Given the description of an element on the screen output the (x, y) to click on. 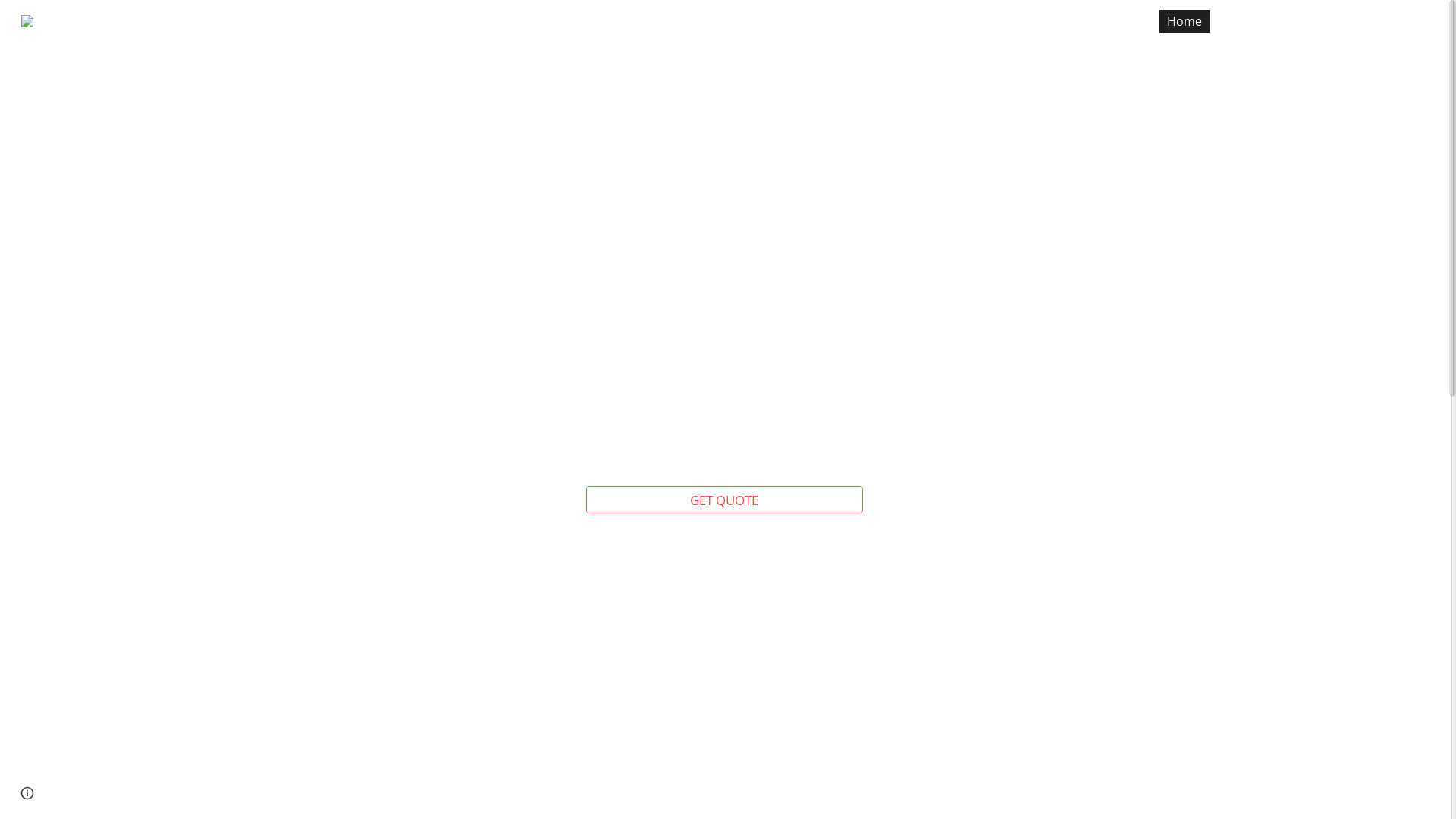
Home Element type: text (1184, 20)
285 AUTO GLASS Element type: text (84, 18)
GET QUOTE Element type: text (724, 498)
SOCIAL MEDIA Element type: text (1360, 20)
GET QUOTE Element type: text (1261, 20)
